Given the description of an element on the screen output the (x, y) to click on. 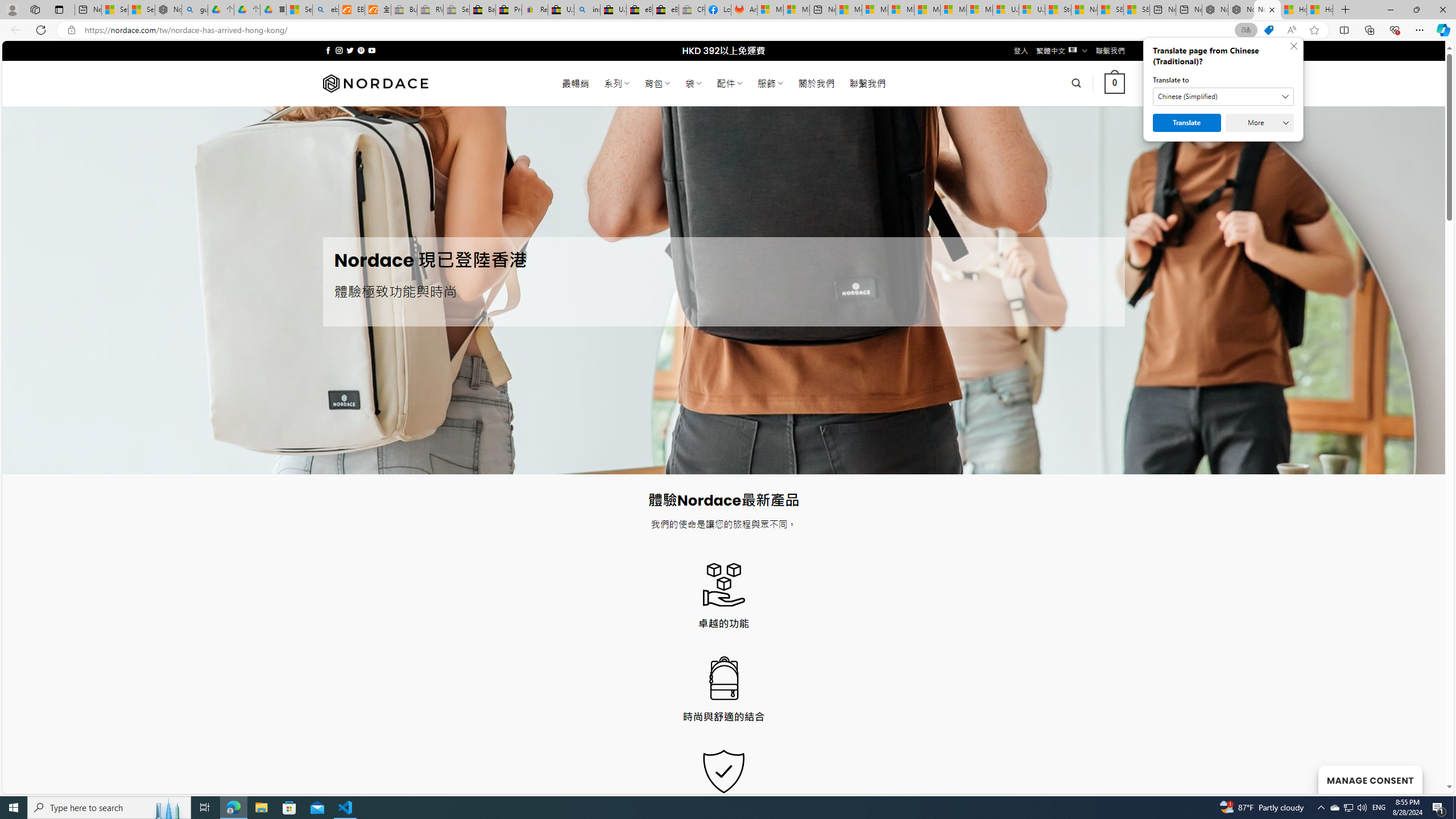
Baby Keepsakes & Announcements for sale | eBay (482, 9)
guge yunpan - Search (194, 9)
Buy Auto Parts & Accessories | eBay - Sleeping (403, 9)
How to Use a Monitor With Your Closed Laptop (1319, 9)
